Given the description of an element on the screen output the (x, y) to click on. 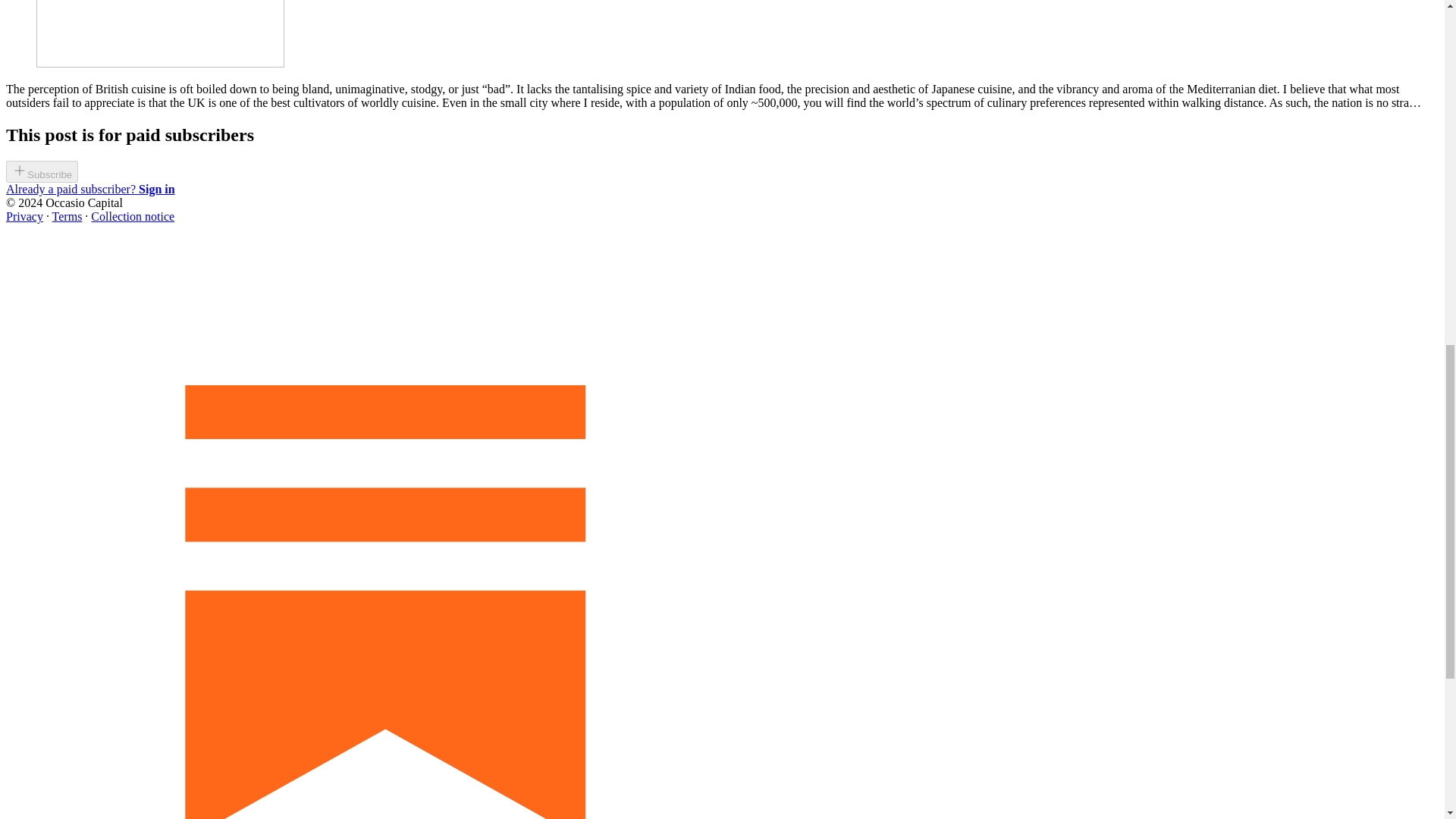
Terms (67, 215)
Subscribe (41, 171)
Privacy (24, 215)
Already a paid subscriber? Sign in (89, 188)
Subscribe (41, 173)
Collection notice (132, 215)
